Given the description of an element on the screen output the (x, y) to click on. 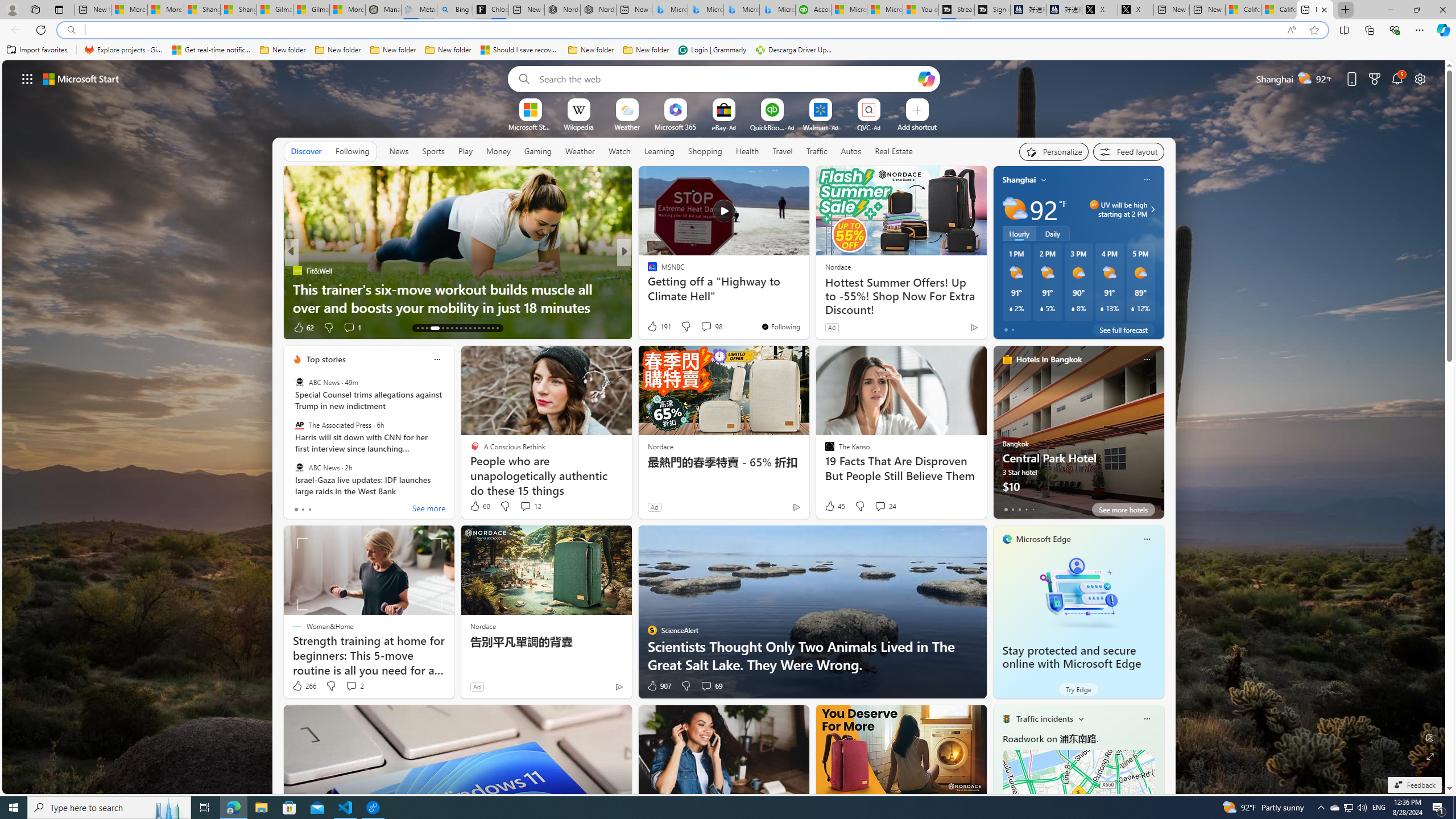
How Many Sets and Reps Should You Do To Build Muscle? (807, 298)
AutomationID: tab-28 (492, 328)
View comments 7 Comment (698, 327)
Class: weather-current-precipitation-glyph (1133, 308)
Wikipedia (578, 126)
My location (1043, 179)
You're following MSNBC (780, 326)
Central Park Hotel (1078, 436)
See full forecast (1123, 329)
